Given the description of an element on the screen output the (x, y) to click on. 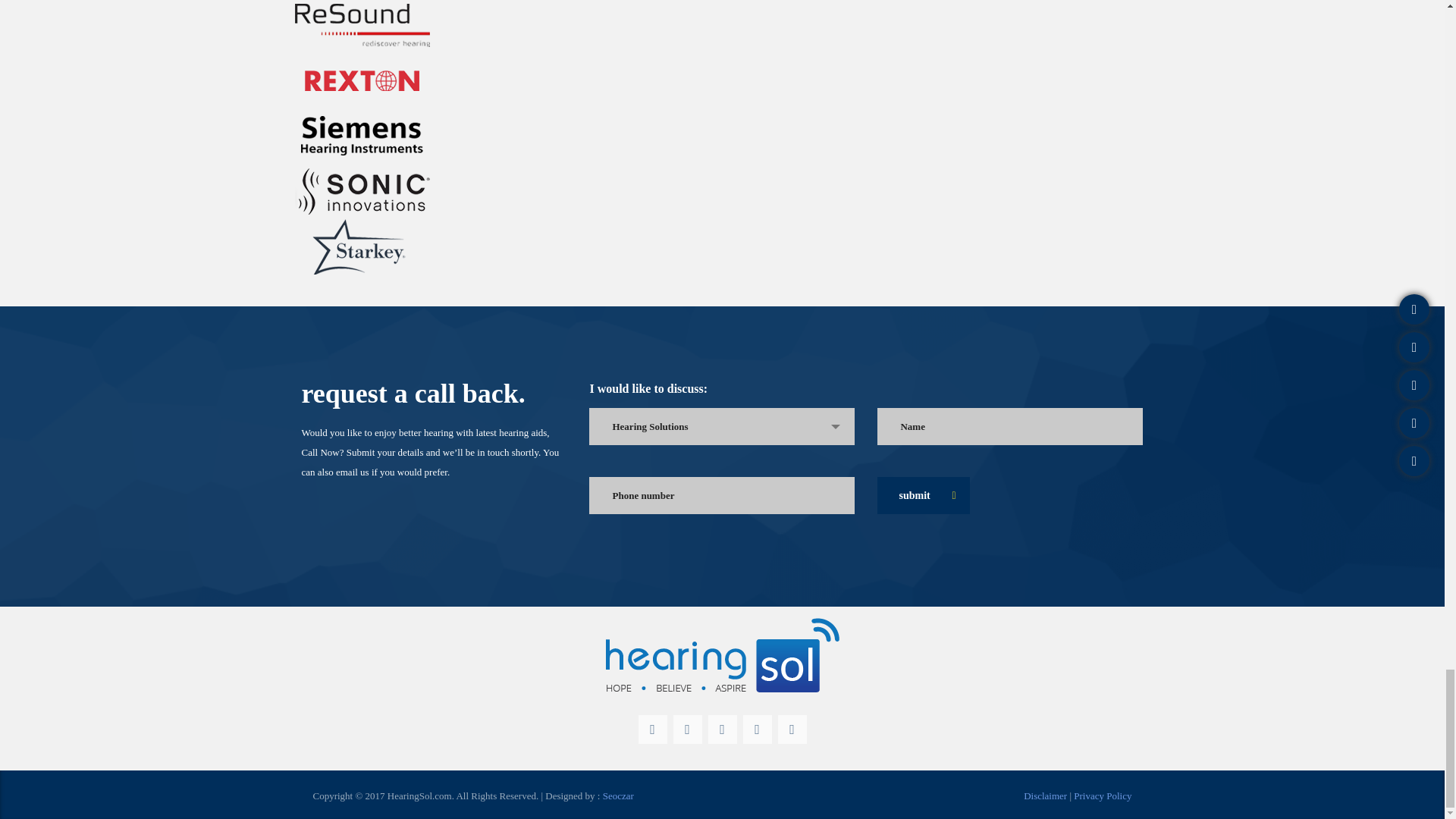
simens (362, 135)
resound-logo (362, 26)
Hearing Solutions (721, 426)
sonic (362, 191)
rexton (362, 80)
starkey (362, 246)
Ecommerce website (617, 795)
